Given the description of an element on the screen output the (x, y) to click on. 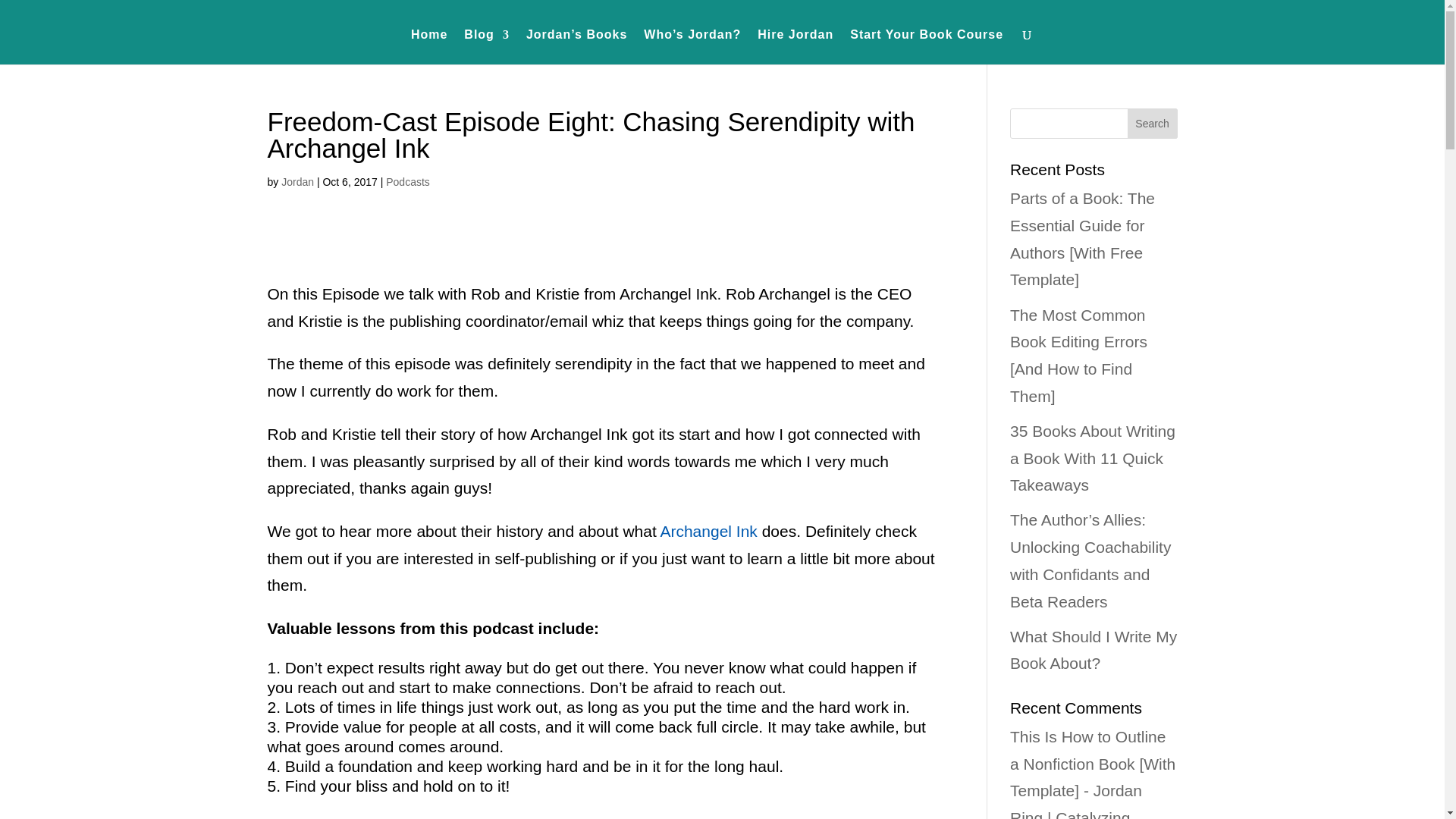
Podcasts (407, 182)
Search (1151, 123)
Start Your Book Course (926, 46)
Jordan (297, 182)
Blog (486, 46)
Posts by Jordan (297, 182)
Search (1151, 123)
What Should I Write My Book About? (1093, 650)
Archangel Ink (708, 530)
Hire Jordan (794, 46)
